Given the description of an element on the screen output the (x, y) to click on. 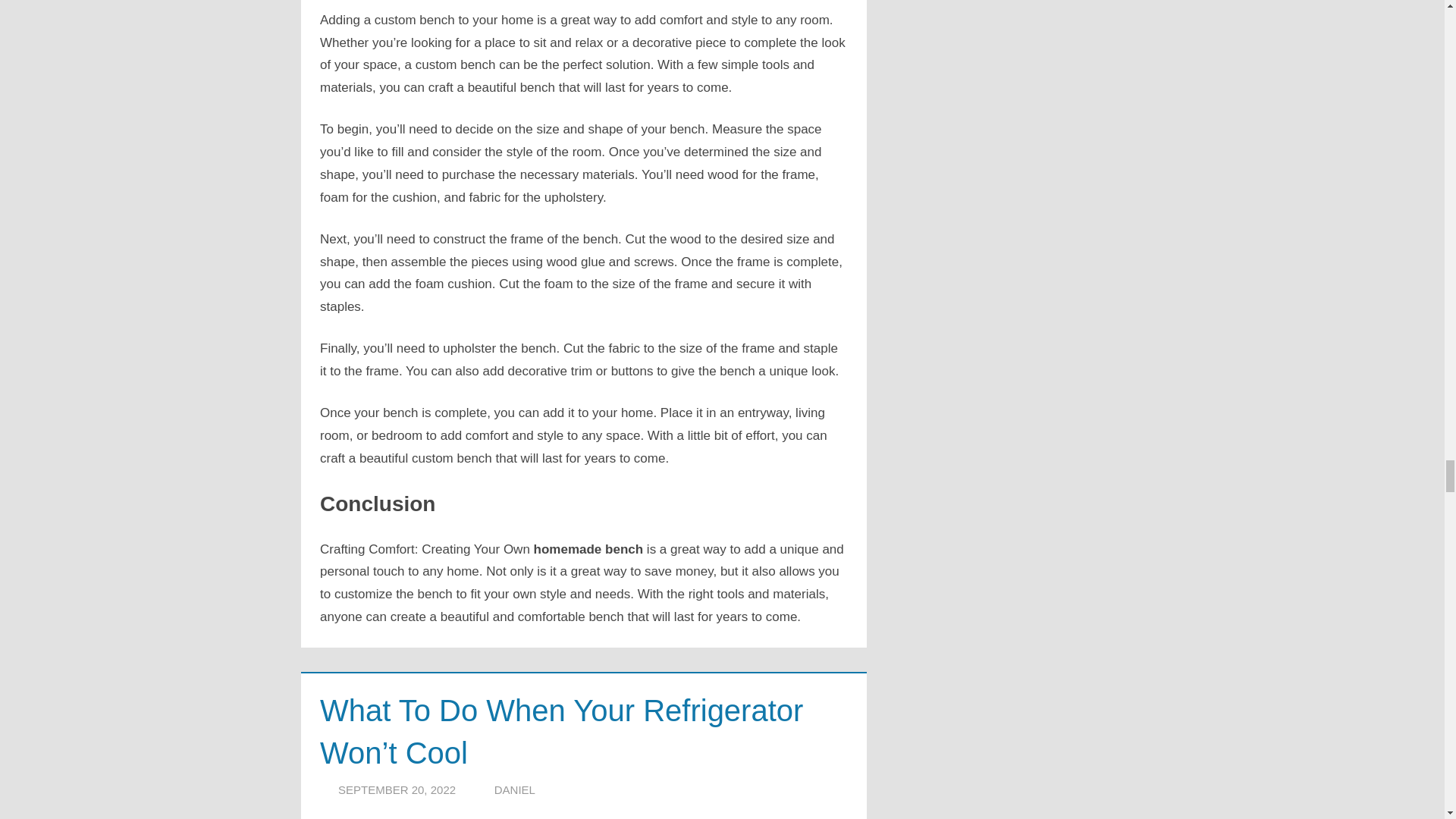
SEPTEMBER 20, 2022 (396, 789)
DANIEL (515, 789)
3:35 pm (396, 789)
View all posts by Daniel (515, 789)
